Given the description of an element on the screen output the (x, y) to click on. 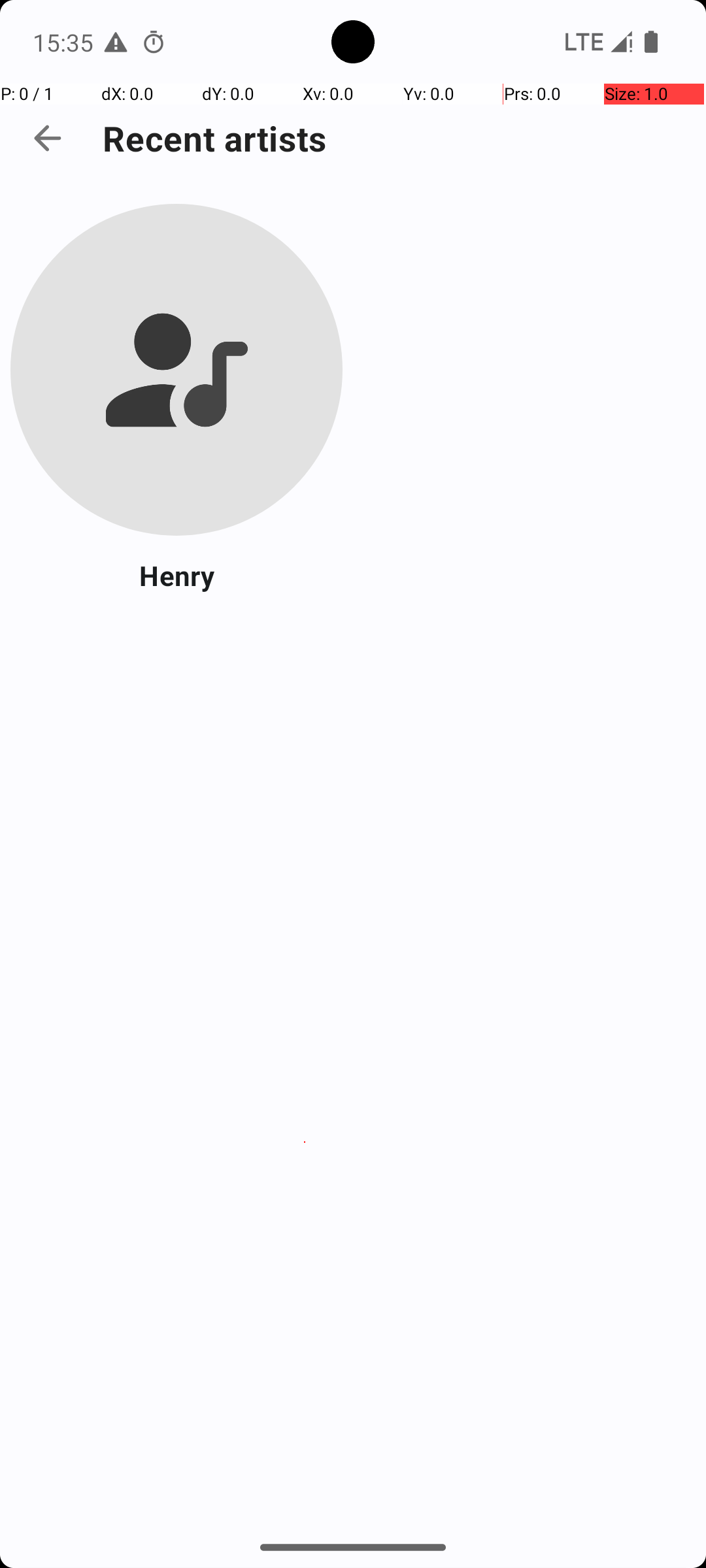
Henry Element type: android.widget.TextView (176, 574)
